Given the description of an element on the screen output the (x, y) to click on. 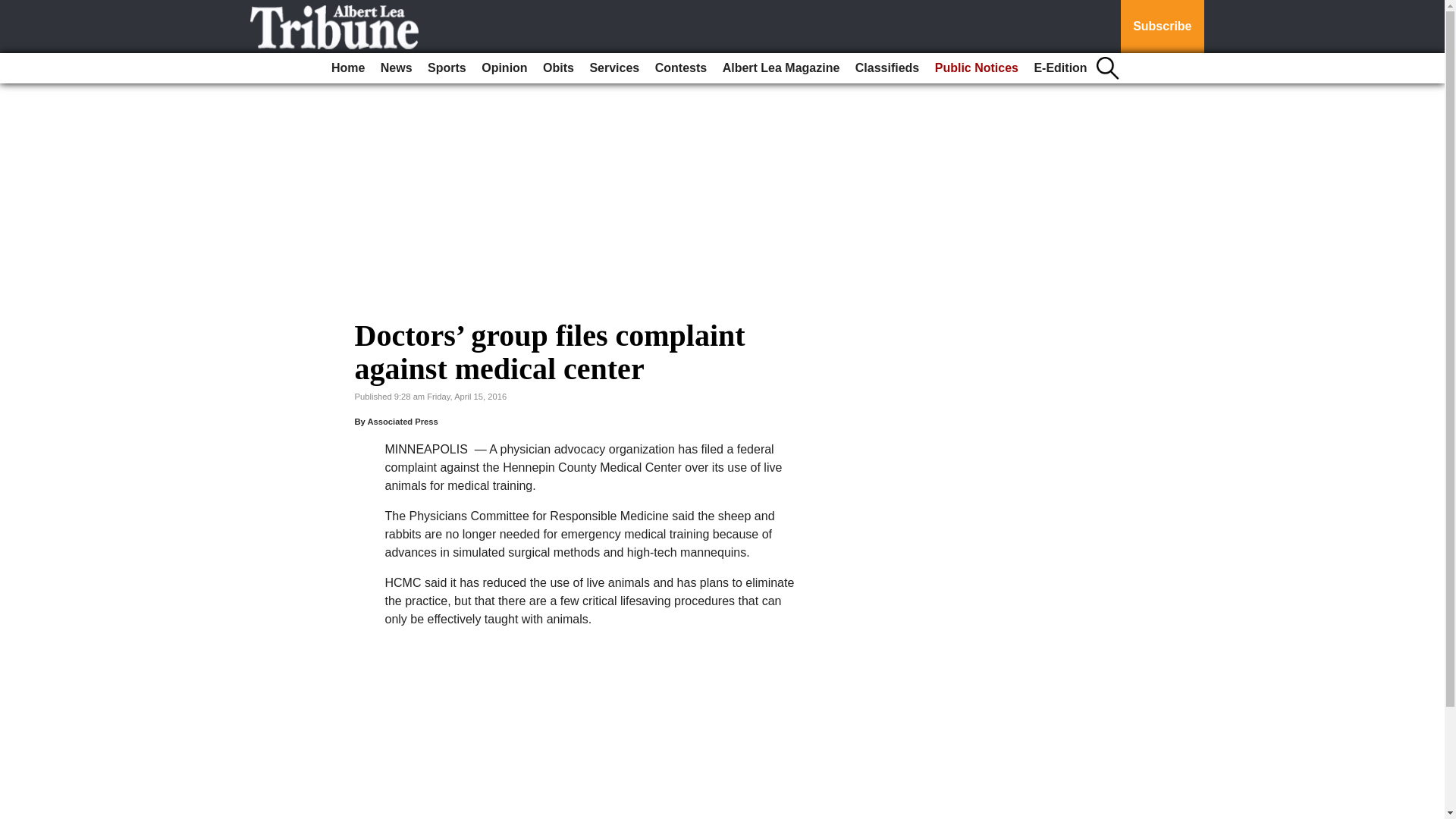
Obits (558, 68)
Sports (446, 68)
Subscribe (1162, 26)
Opinion (504, 68)
Services (614, 68)
News (396, 68)
Home (347, 68)
